Given the description of an element on the screen output the (x, y) to click on. 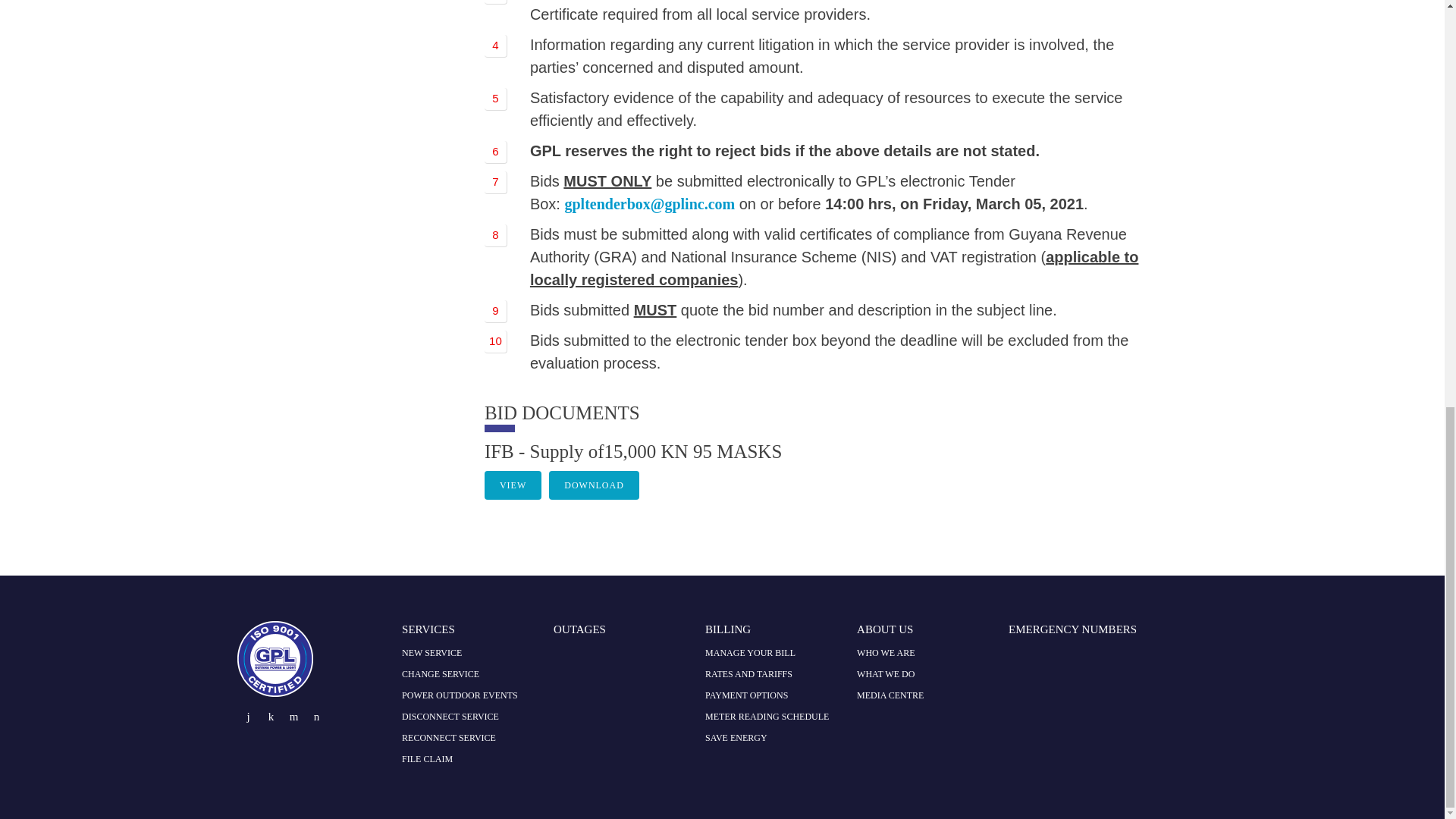
Guyana Power and Light Incorporated (274, 691)
SERVICES (427, 629)
NEW SERVICE (431, 652)
VIEW (512, 484)
DOWNLOAD (593, 484)
